Given the description of an element on the screen output the (x, y) to click on. 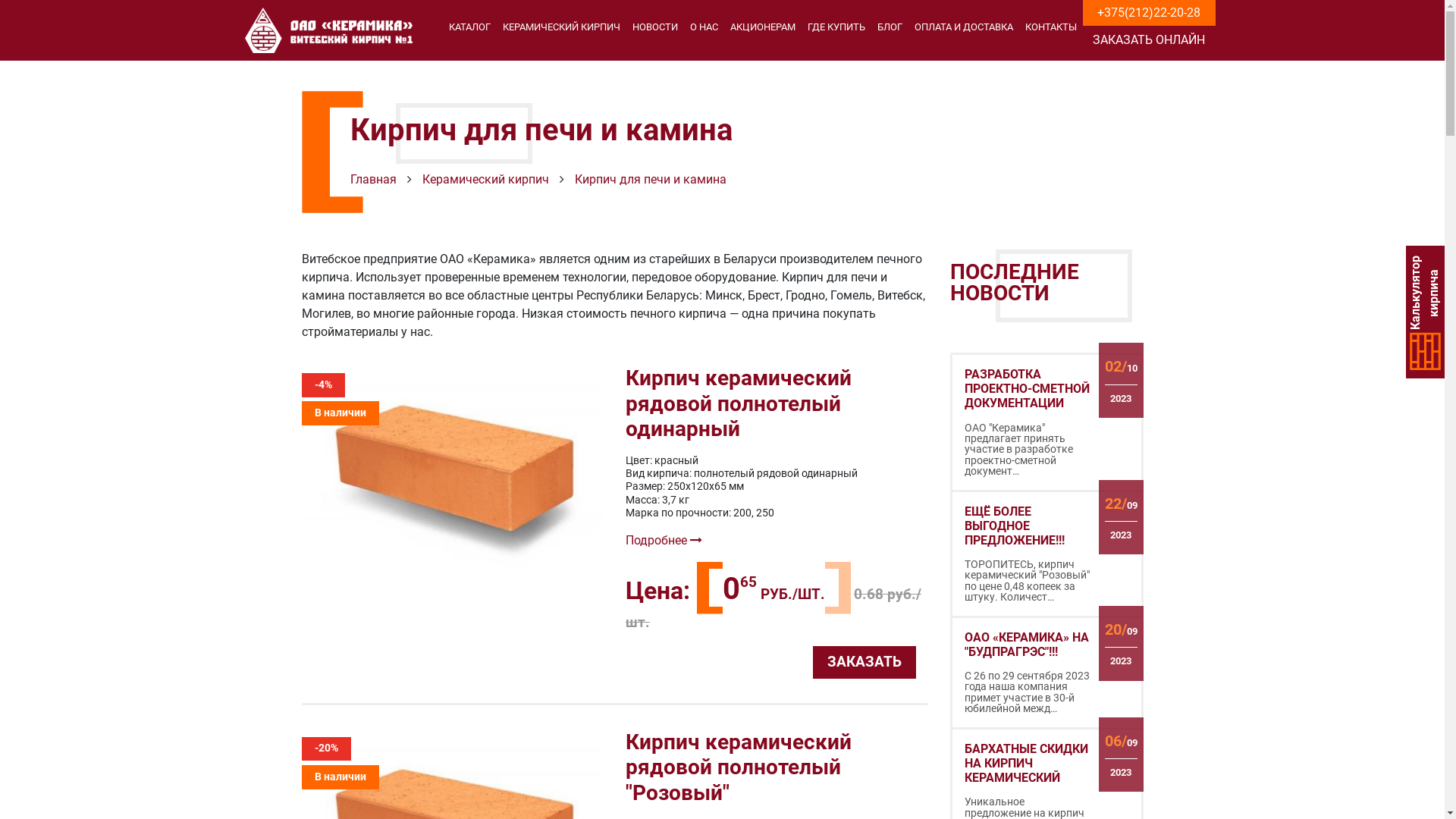
+375(212)22-20-28 Element type: text (1148, 12)
